Given the description of an element on the screen output the (x, y) to click on. 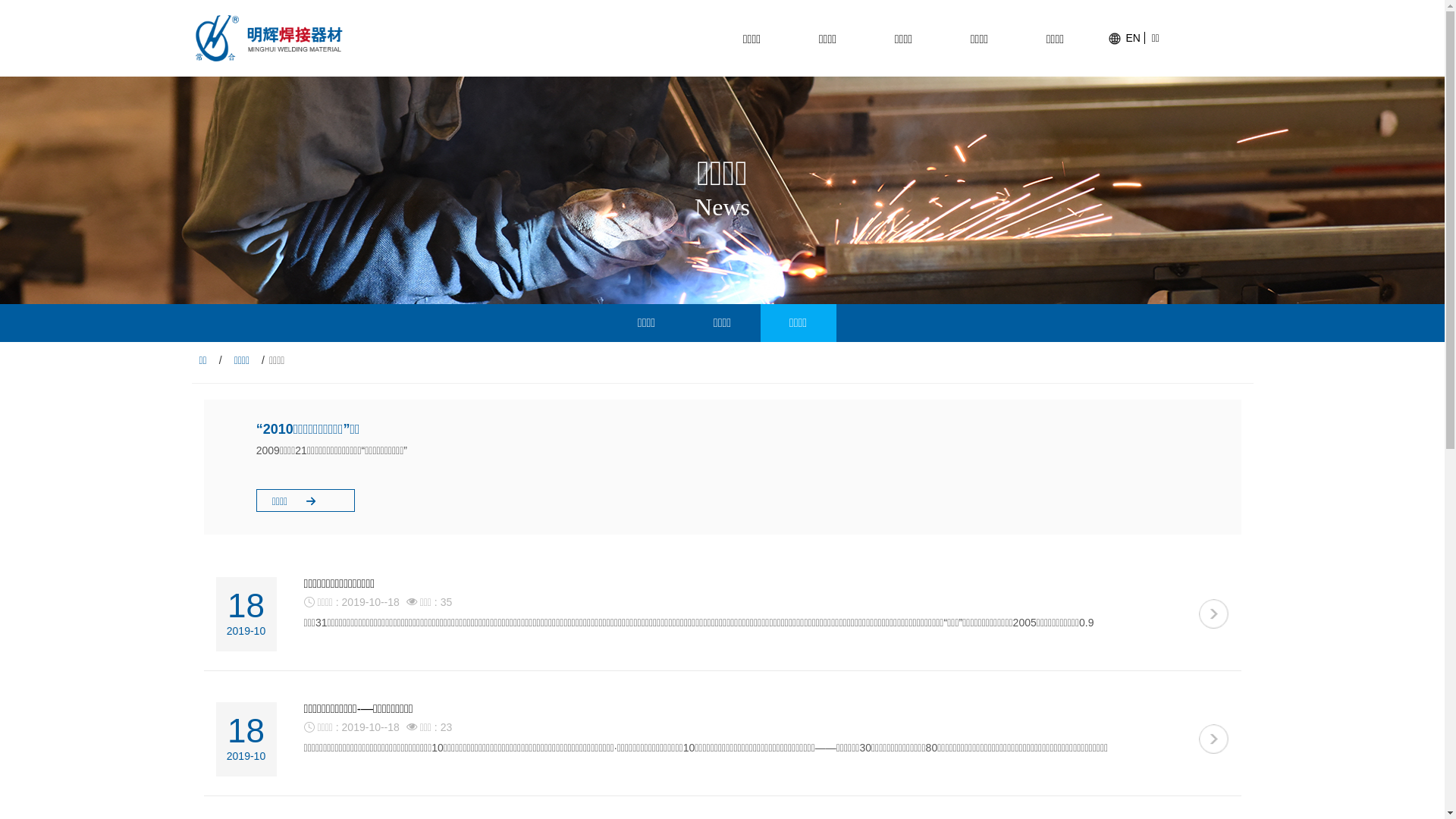
EN Element type: text (1125, 37)
